Given the description of an element on the screen output the (x, y) to click on. 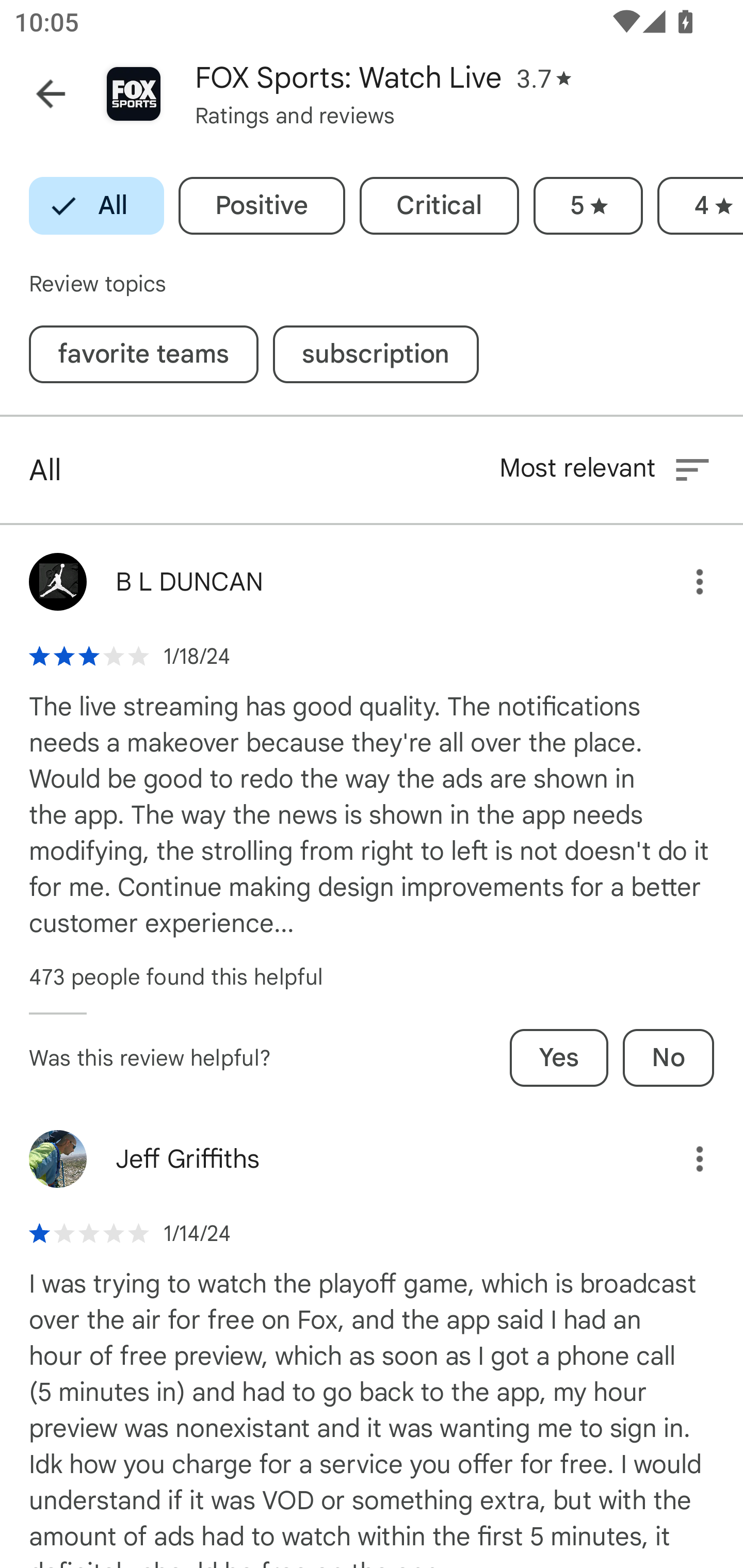
Navigate up (50, 93)
All (96, 206)
Positive (261, 206)
Critical (439, 206)
5 5 Stars (587, 206)
4 4 Stars (700, 206)
favorite teams (143, 354)
subscription (375, 354)
Most relevant (606, 469)
Options (685, 581)
Yes (558, 1057)
No (668, 1057)
Options (685, 1159)
